Given the description of an element on the screen output the (x, y) to click on. 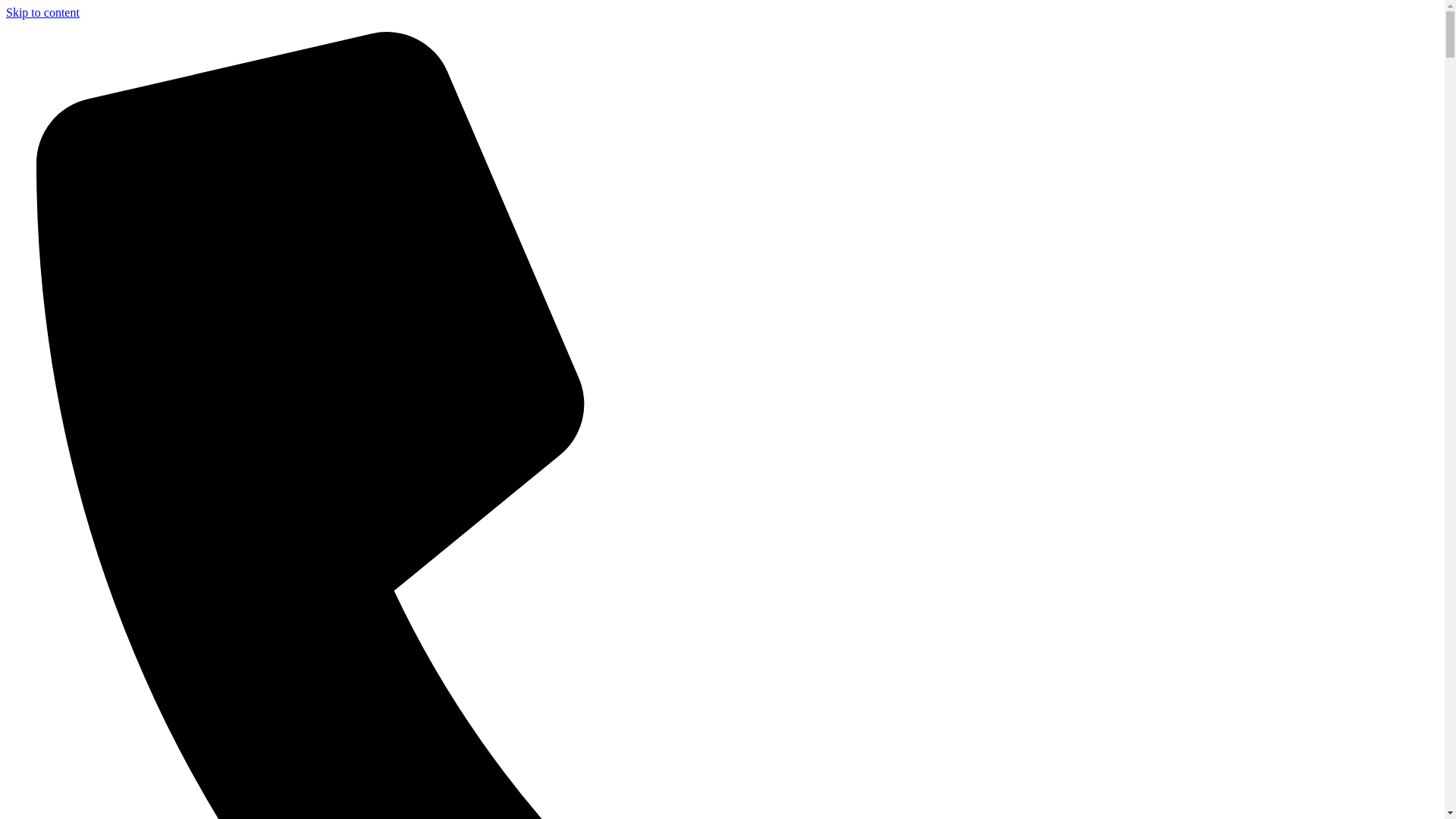
Skip to content (42, 11)
